Given the description of an element on the screen output the (x, y) to click on. 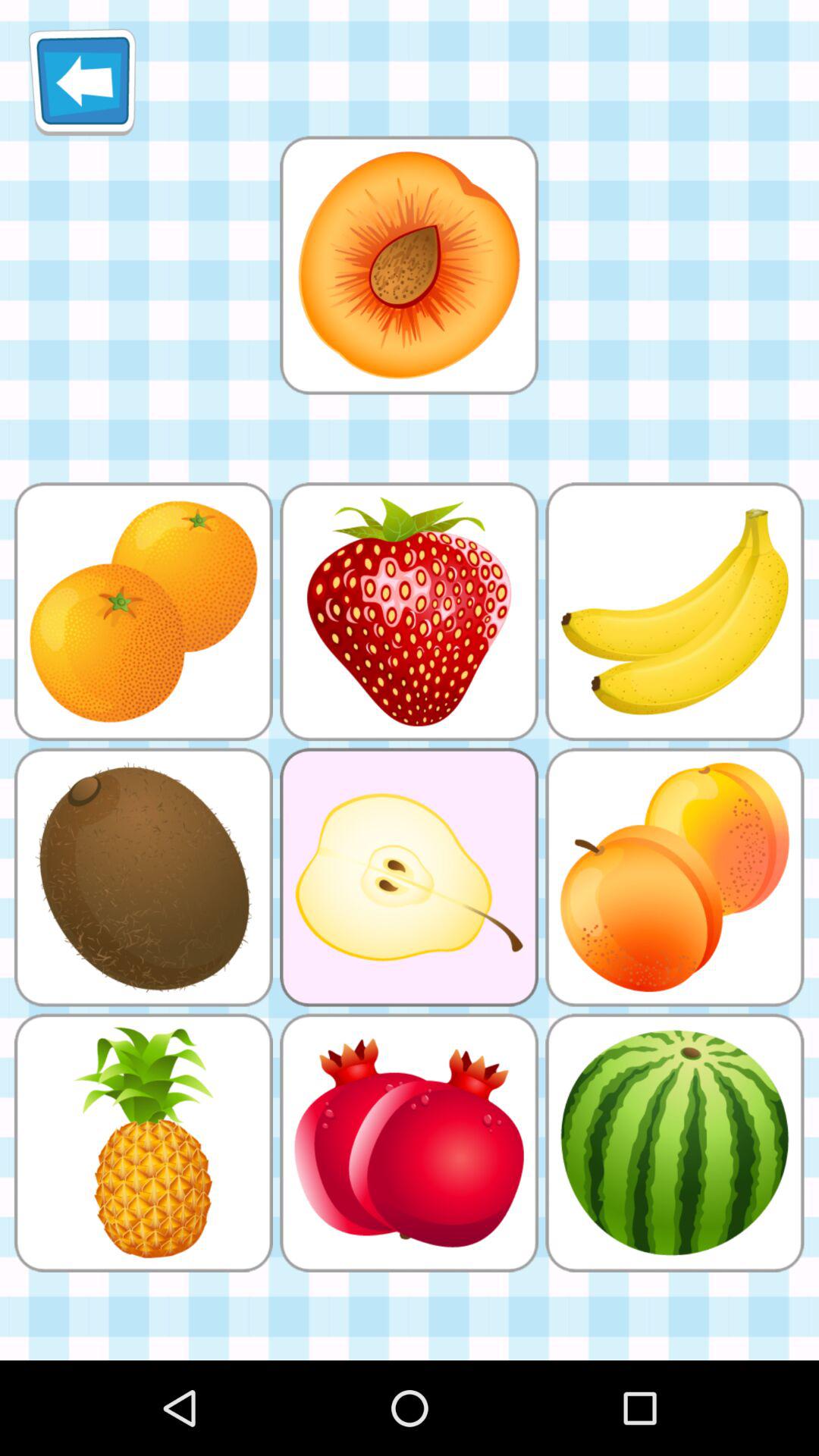
view large (409, 265)
